Given the description of an element on the screen output the (x, y) to click on. 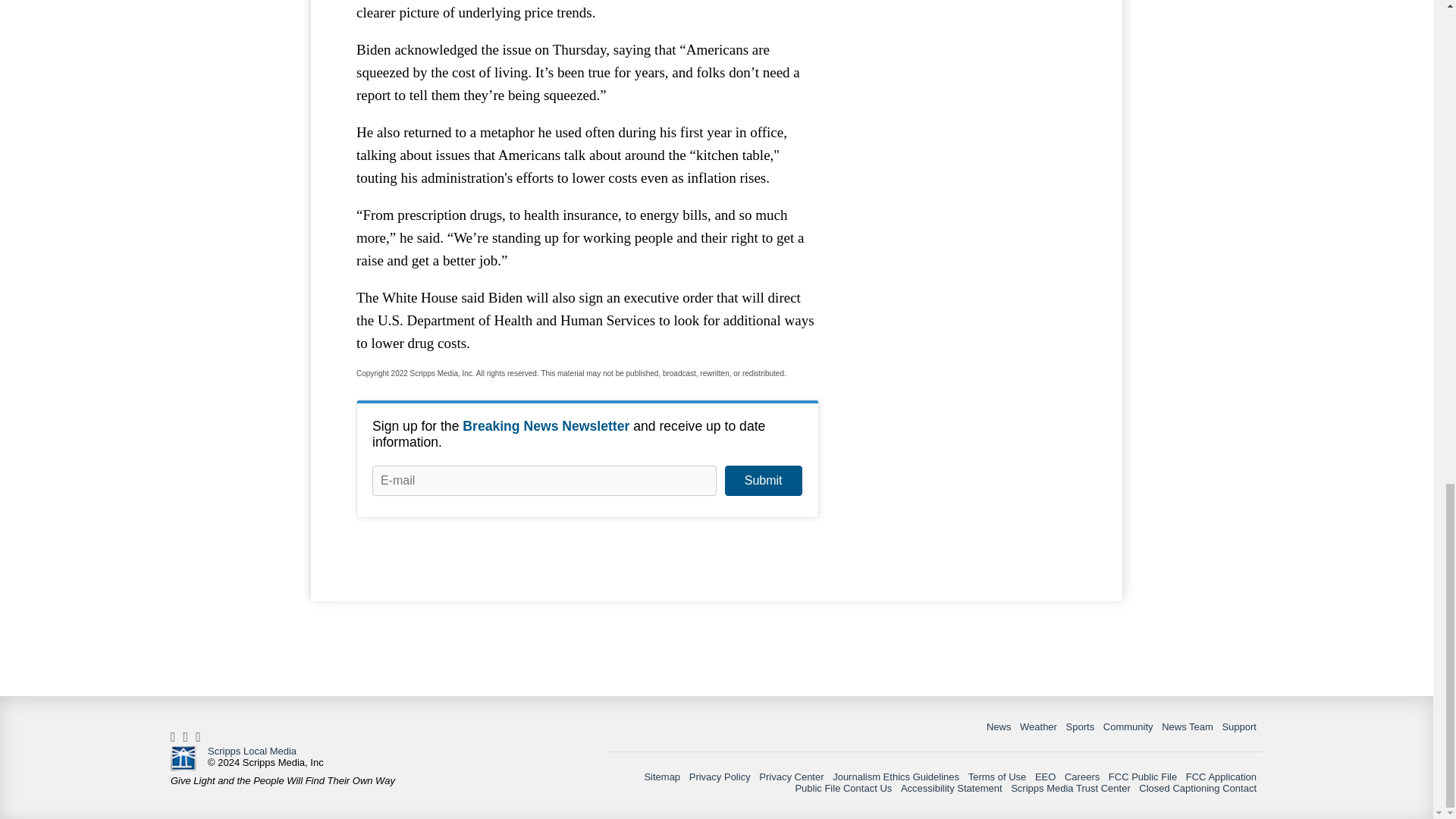
Submit (763, 481)
